Given the description of an element on the screen output the (x, y) to click on. 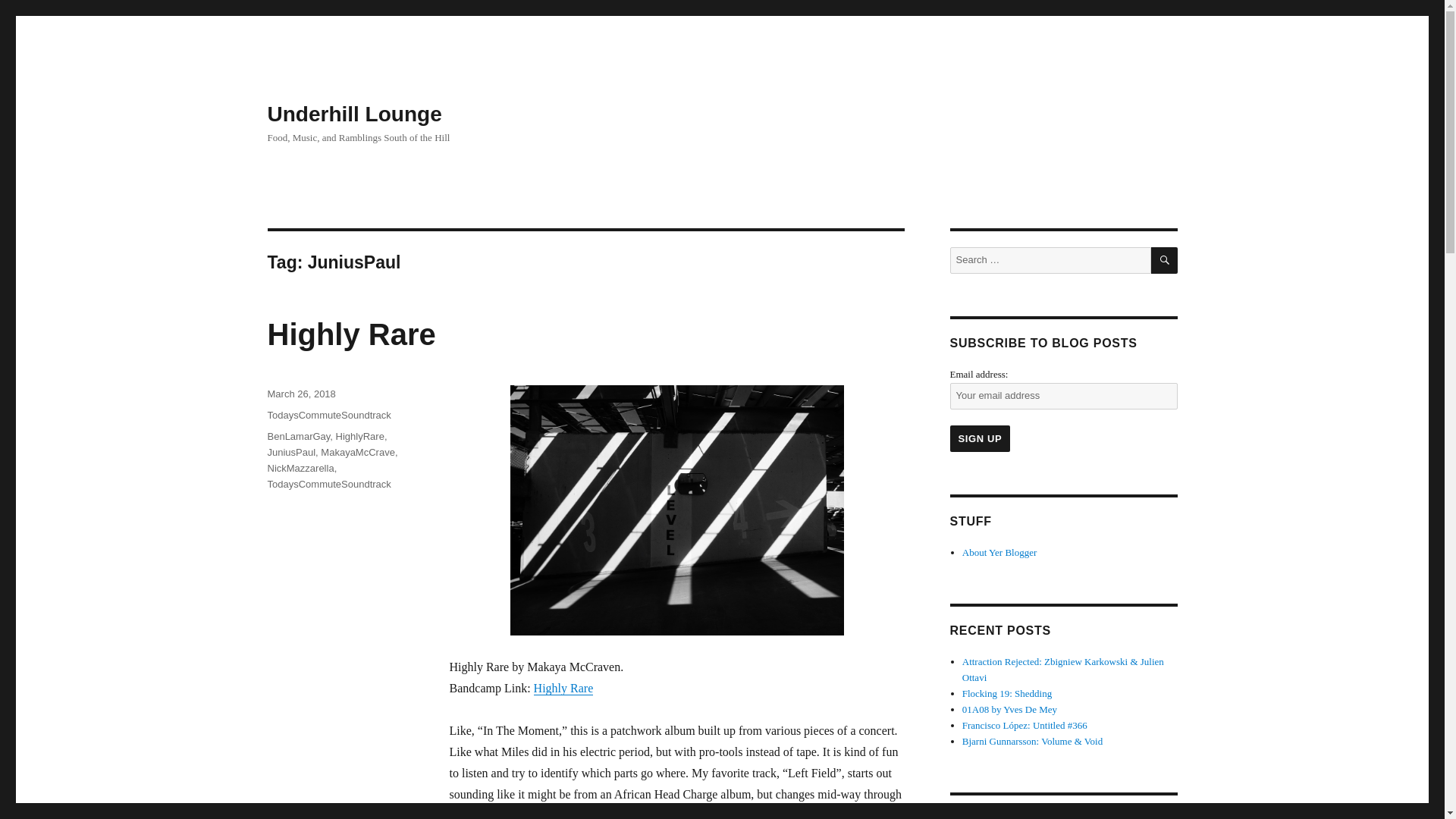
01A08 by Yves De Mey (1009, 708)
Highly Rare (564, 687)
Highly Rare (350, 334)
SEARCH (1164, 260)
March 26, 2018 (300, 393)
NickMazzarella (299, 468)
HighlyRare (360, 436)
Sign up (979, 438)
TodaysCommuteSoundtrack (328, 414)
Flocking 19: Shedding (1006, 693)
Underhill Lounge (353, 114)
MakayaMcCrave (357, 451)
Sign up (979, 438)
About Yer Blogger (999, 552)
BenLamarGay (298, 436)
